Given the description of an element on the screen output the (x, y) to click on. 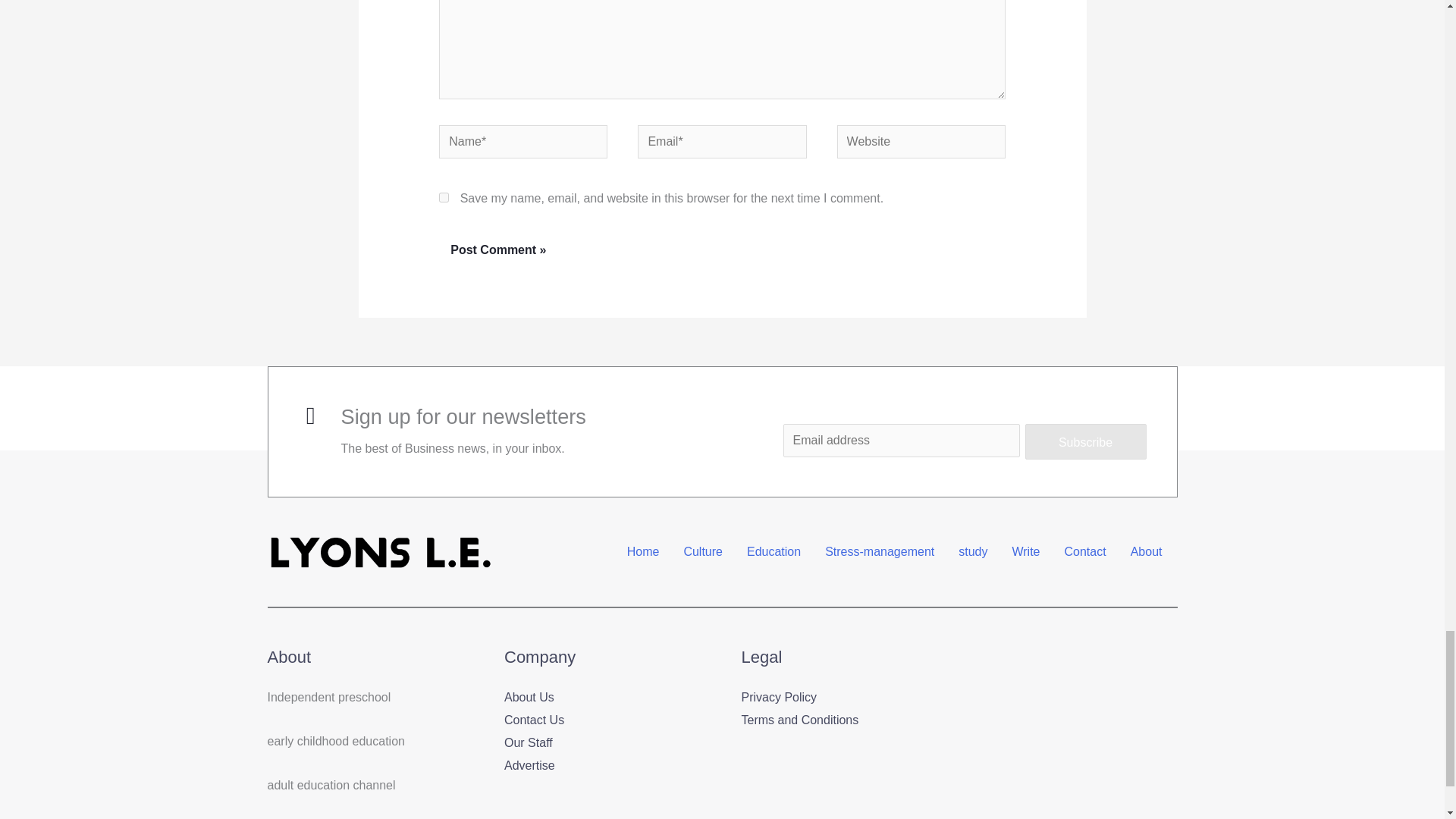
study (972, 551)
Home (642, 551)
yes (443, 197)
Subscribe (1086, 442)
Stress-management (879, 551)
Culture (703, 551)
Education (773, 551)
About (1146, 551)
Contact (1085, 551)
Write (1024, 551)
